Given the description of an element on the screen output the (x, y) to click on. 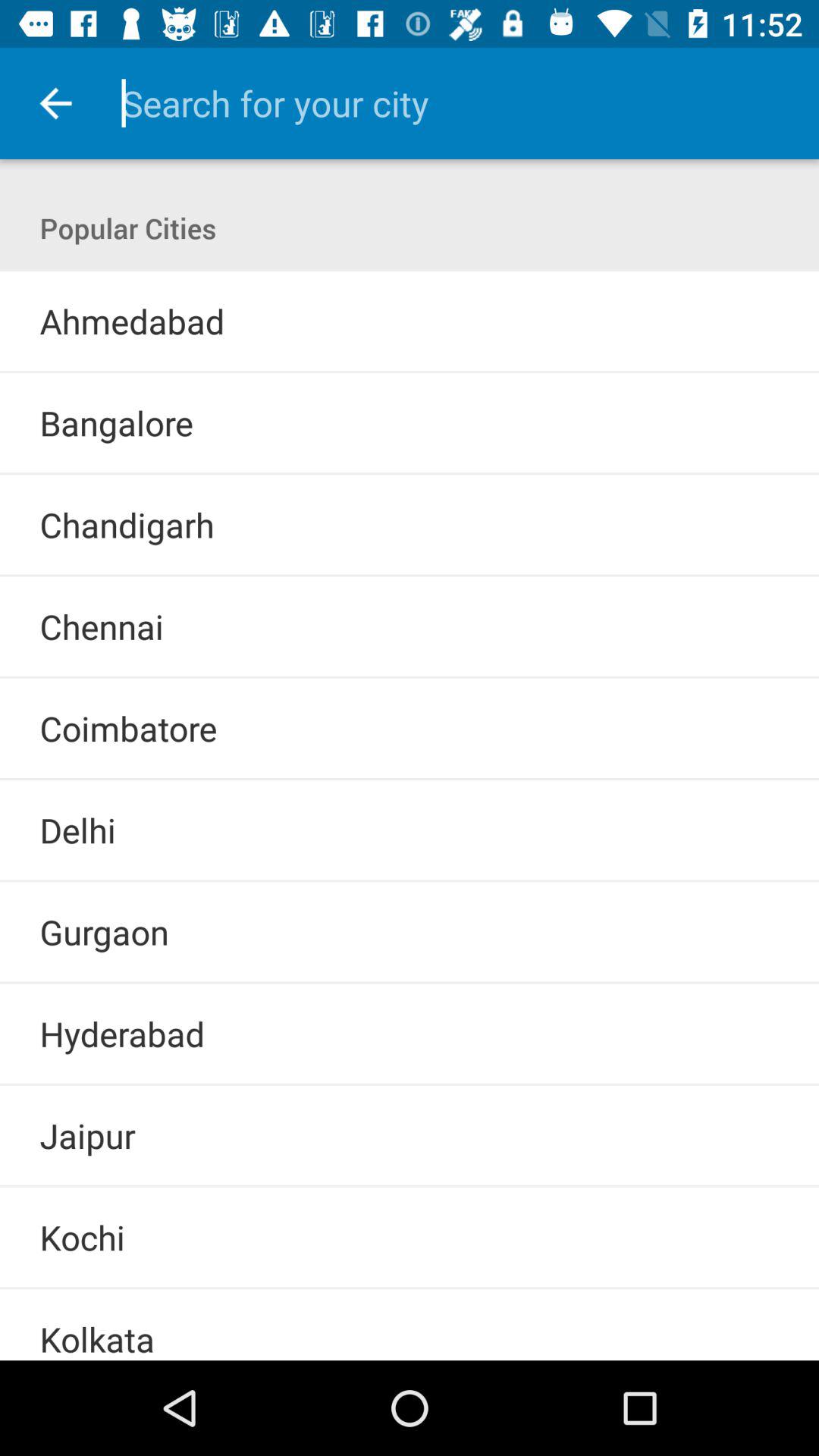
tap chennai icon (101, 626)
